Given the description of an element on the screen output the (x, y) to click on. 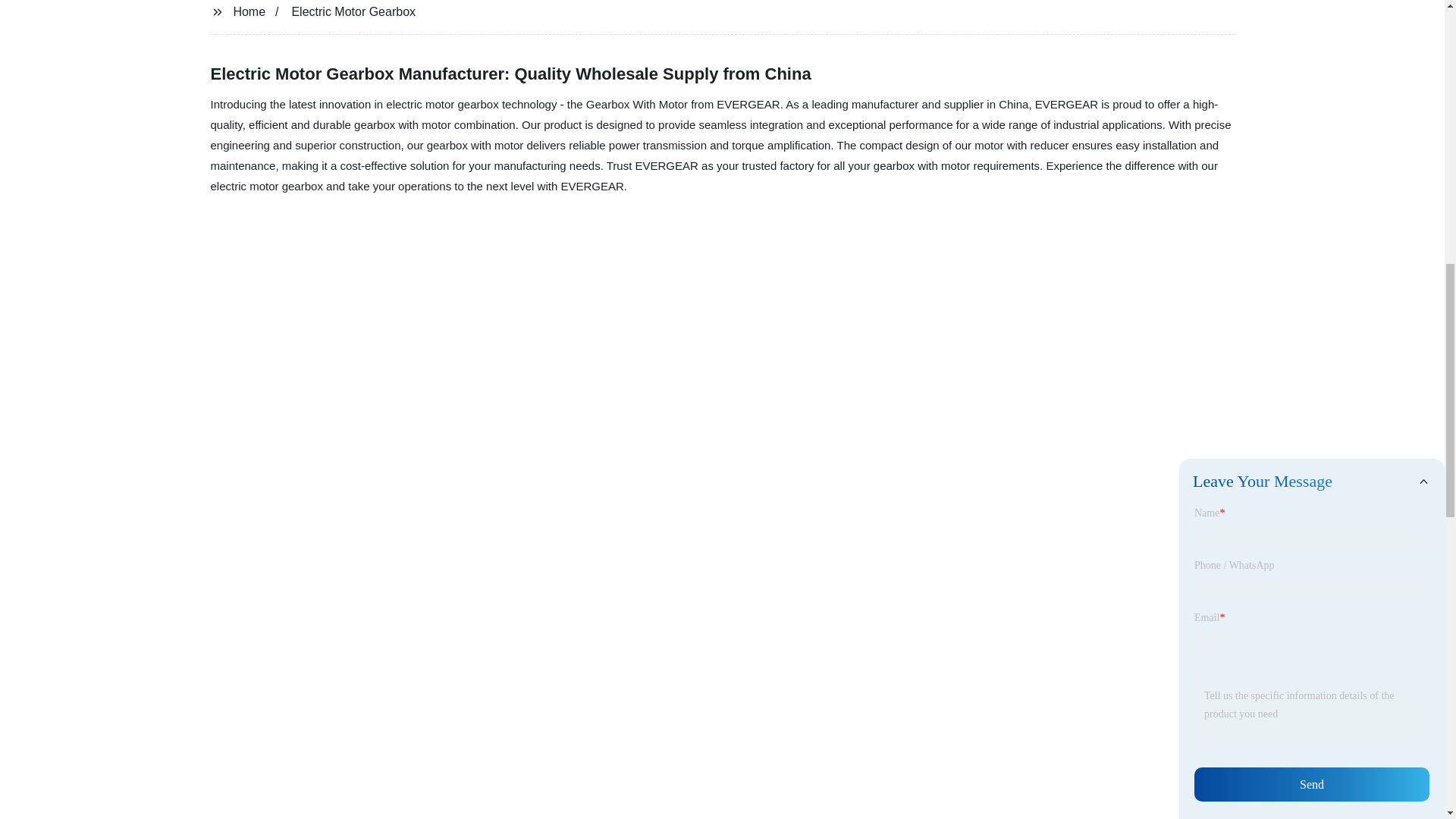
Home (248, 10)
Electric Motor Gearbox (352, 10)
